Given the description of an element on the screen output the (x, y) to click on. 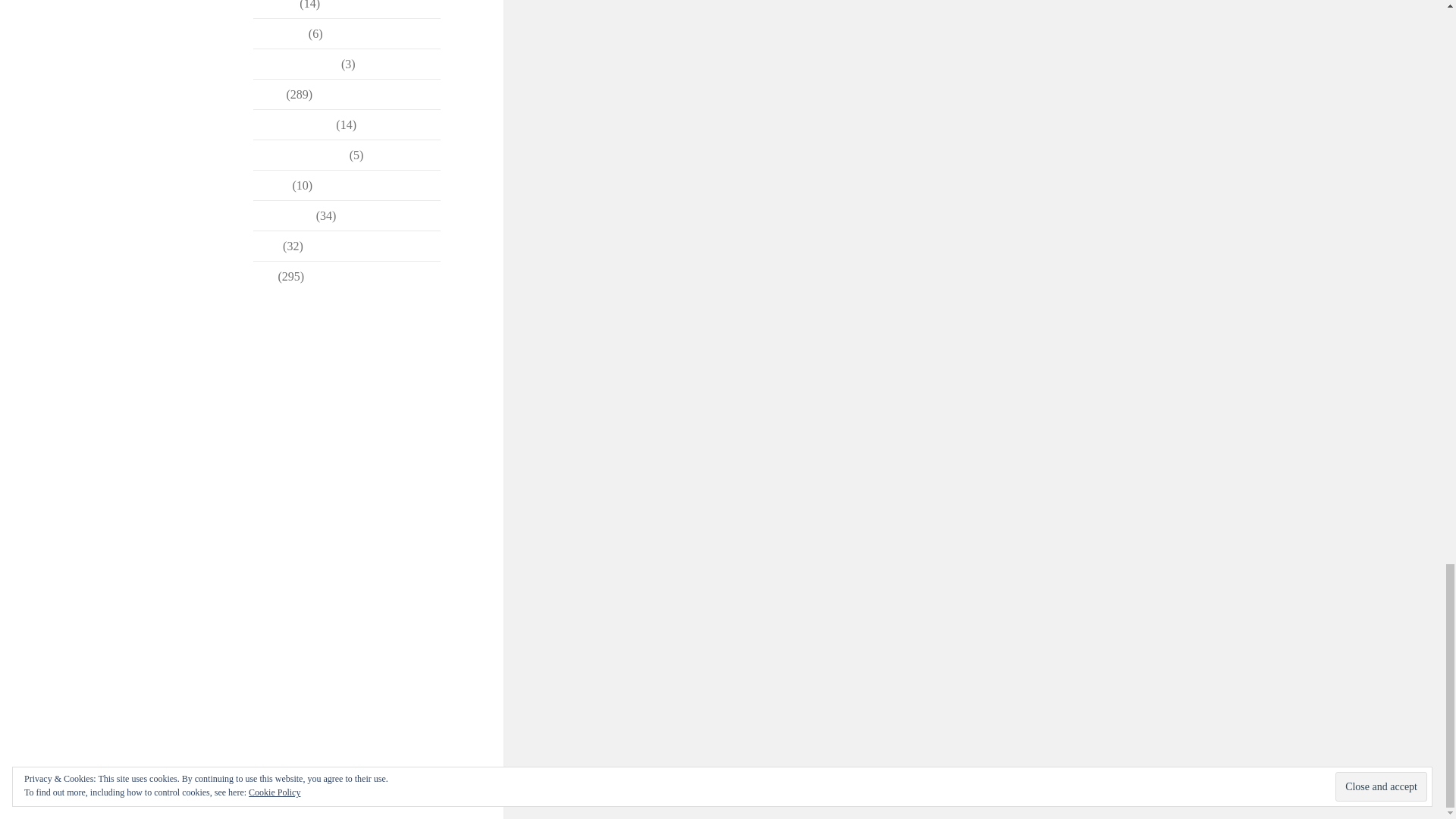
Music (268, 93)
Photon Connection (299, 154)
Meningitis (279, 33)
Mahjong (275, 4)
Microsoft Money (295, 63)
